Given the description of an element on the screen output the (x, y) to click on. 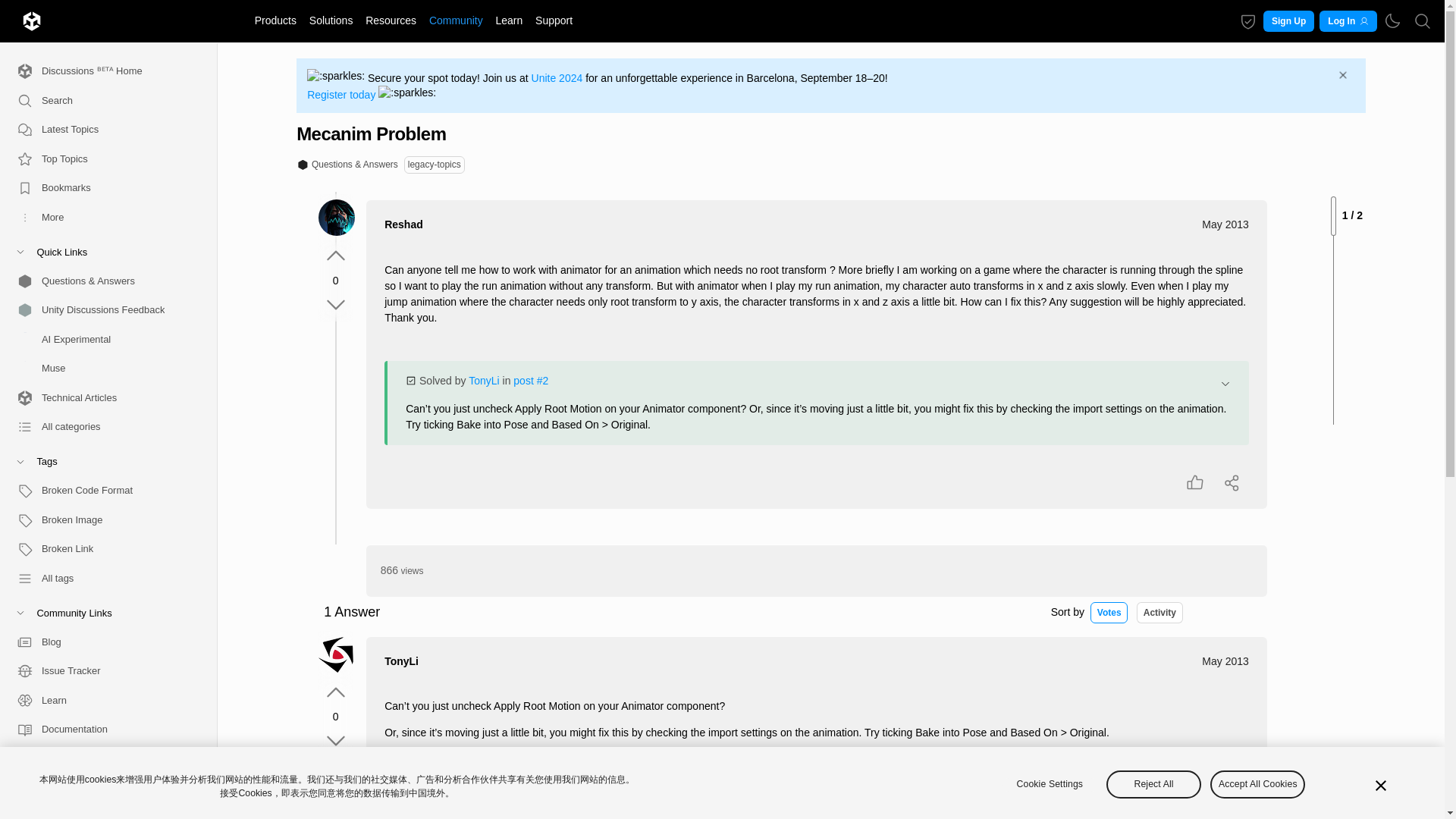
Products (274, 20)
Issue Tracker (102, 671)
Solutions (330, 20)
Toggle color scheme (1392, 21)
All topics (102, 129)
Cookie settings (1248, 21)
Community (455, 20)
Toggle section (102, 461)
Search (1422, 20)
Resources (391, 20)
